Given the description of an element on the screen output the (x, y) to click on. 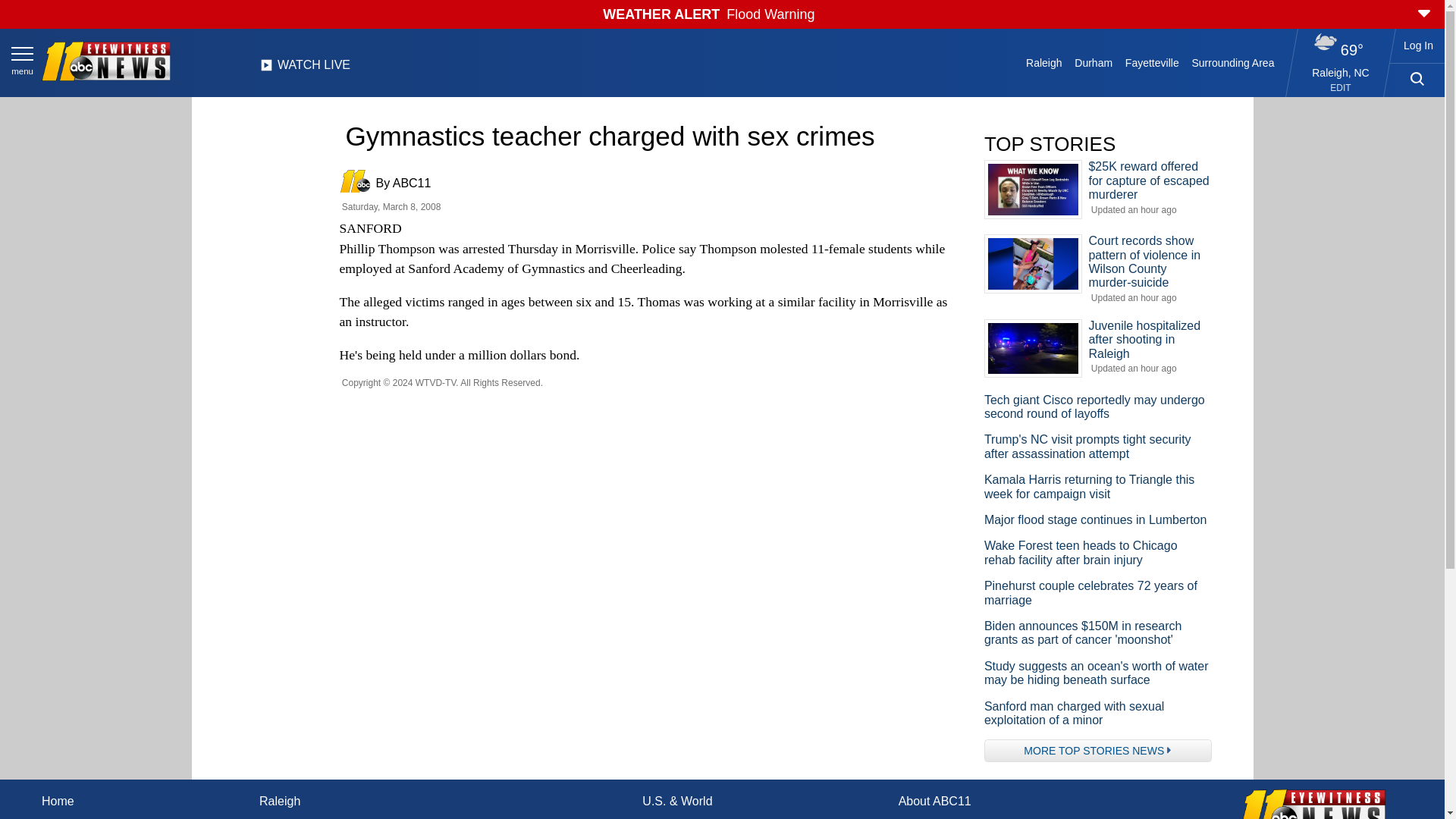
Raleigh, NC (1340, 72)
Durham (1093, 62)
WATCH LIVE (305, 69)
EDIT (1340, 87)
Raleigh (1044, 62)
Surrounding Area (1233, 62)
Fayetteville (1151, 62)
